Given the description of an element on the screen output the (x, y) to click on. 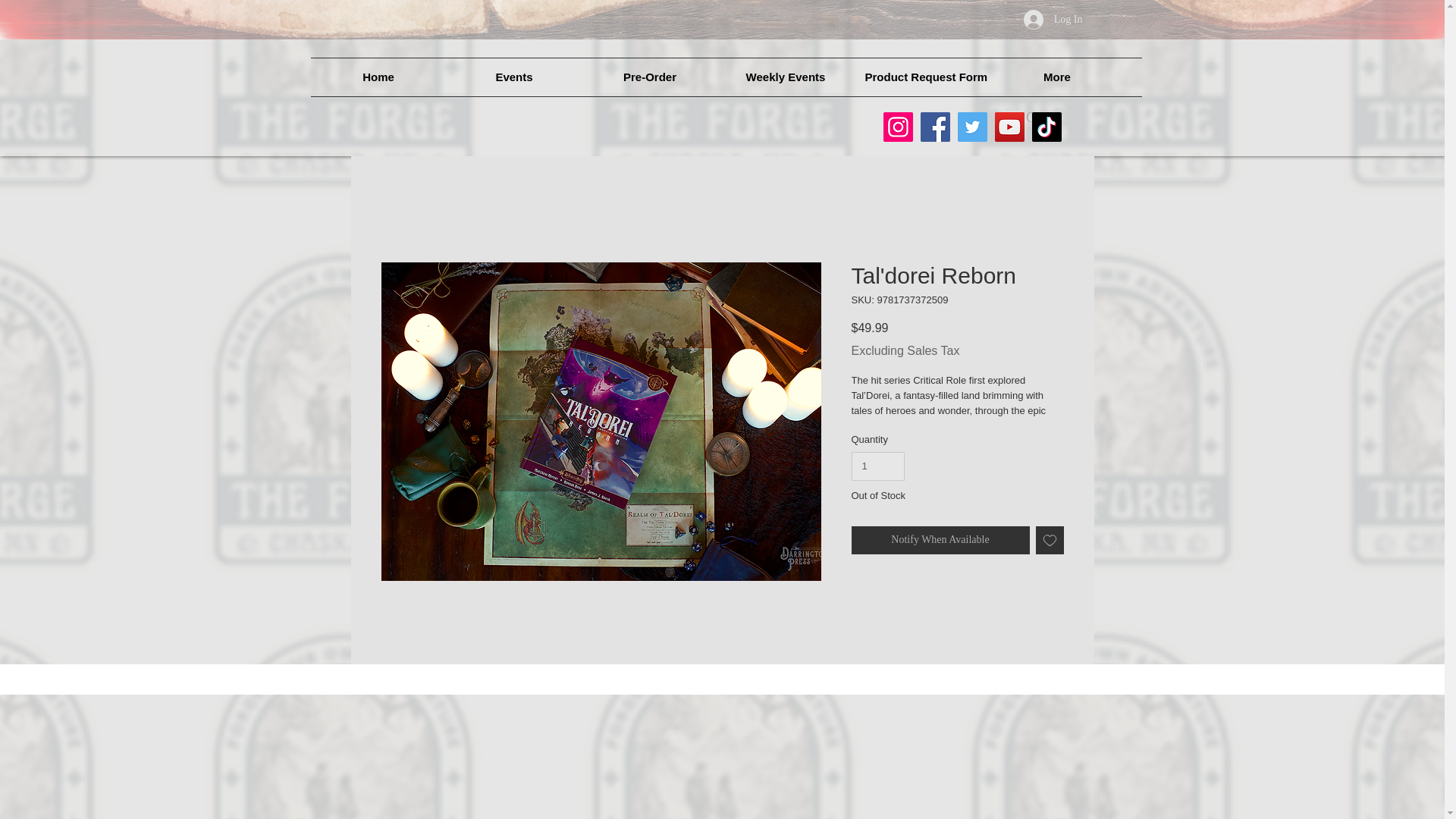
Cart (1034, 117)
Log In (1053, 18)
Notify When Available (939, 540)
Events (512, 77)
Product Request Form (921, 77)
Pre-Order (649, 77)
Weekly Events (785, 77)
Home (378, 77)
1 (877, 466)
Cart (1034, 117)
